Given the description of an element on the screen output the (x, y) to click on. 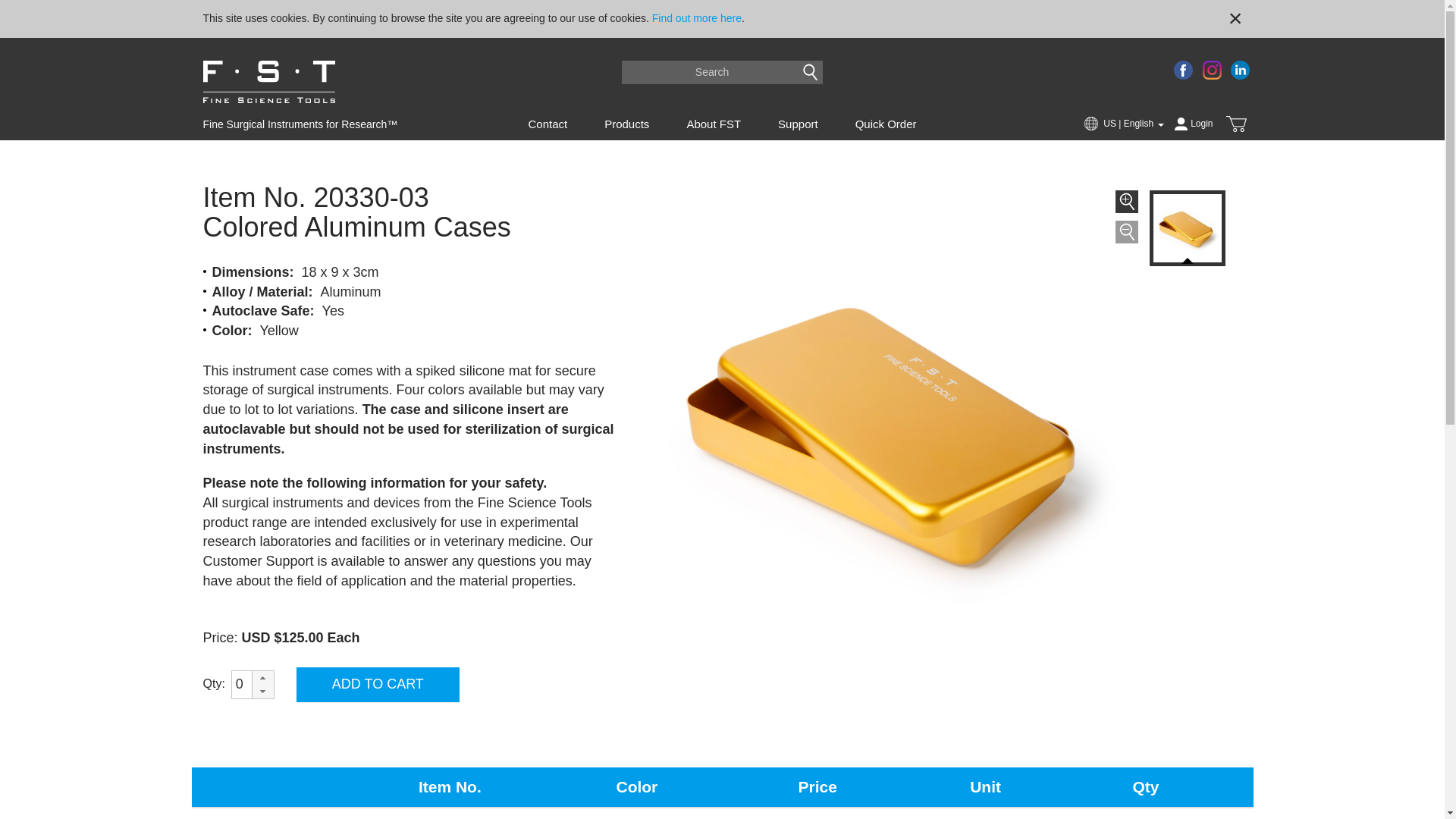
Add to Cart (378, 684)
Find out more here (696, 18)
0 (248, 684)
FST Logo (268, 84)
Contact (547, 123)
FST Logo (268, 81)
Products (626, 123)
